Given the description of an element on the screen output the (x, y) to click on. 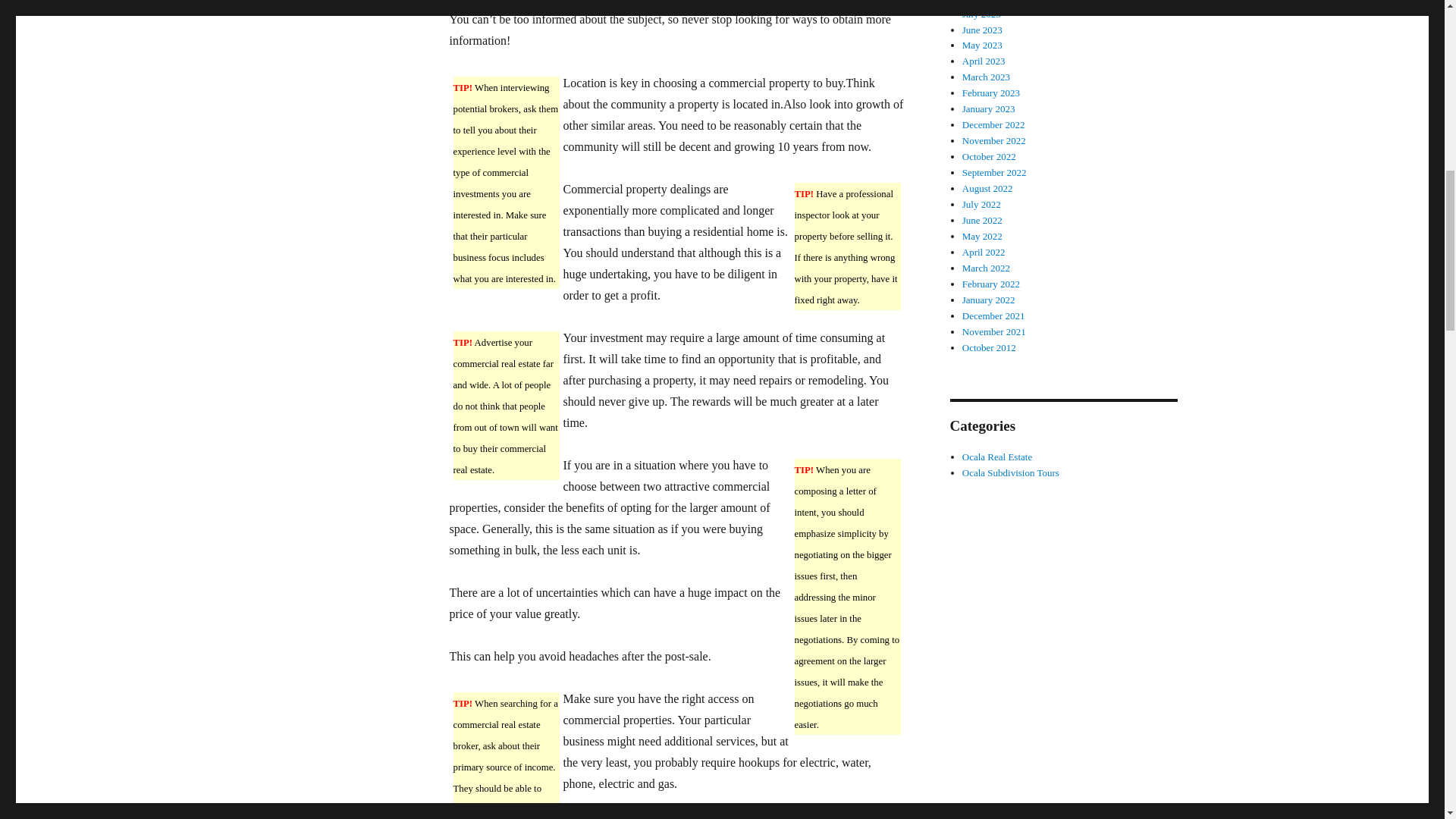
December 2022 (993, 124)
January 2023 (988, 108)
November 2022 (994, 140)
May 2023 (982, 44)
September 2022 (994, 172)
March 2023 (986, 76)
July 2023 (981, 13)
April 2023 (984, 60)
February 2023 (991, 92)
October 2022 (989, 156)
June 2023 (982, 30)
August 2023 (987, 2)
